Given the description of an element on the screen output the (x, y) to click on. 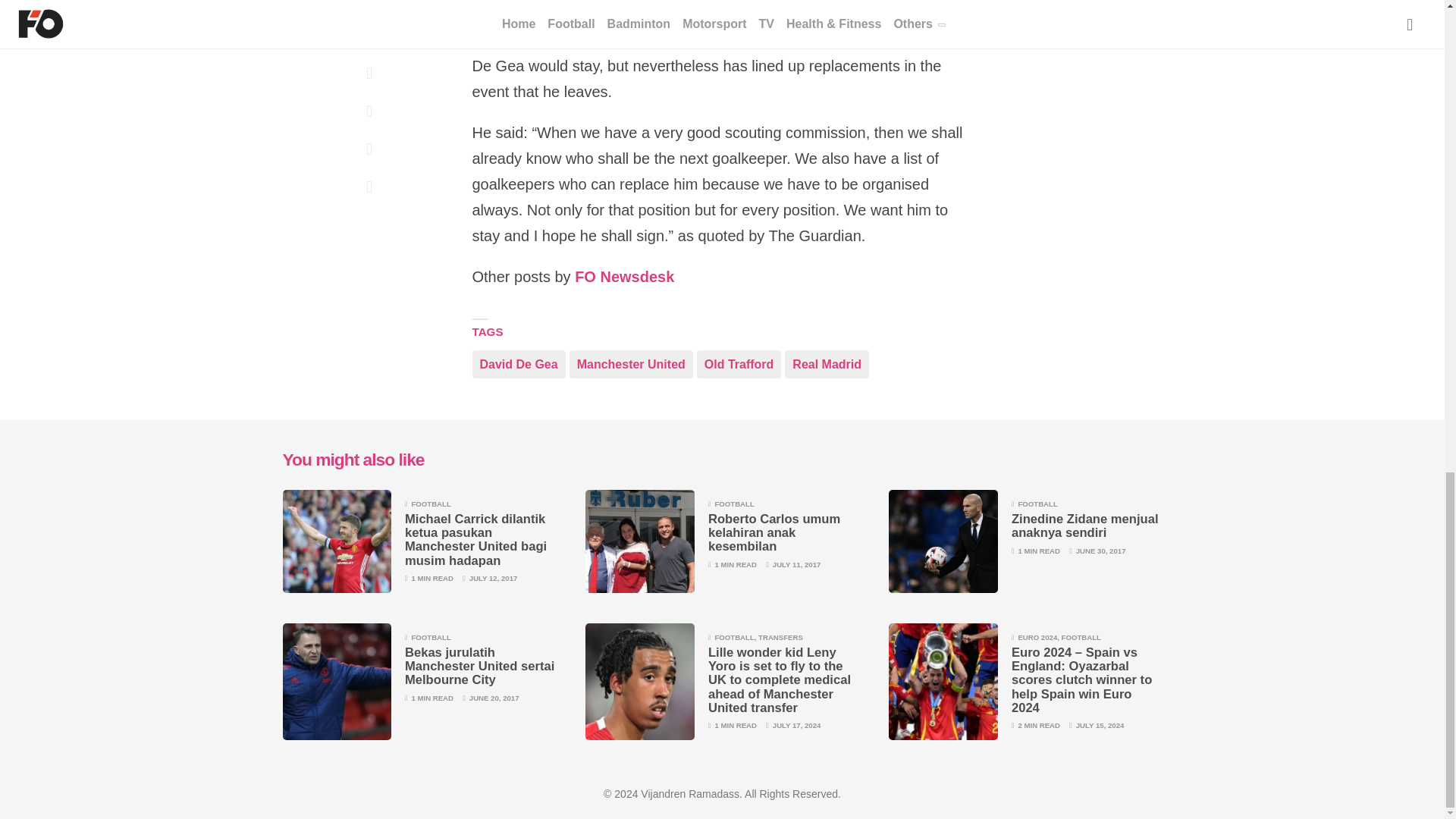
Real Madrid (826, 363)
Manchester United (631, 363)
David De Gea (517, 363)
FOOTBALL (429, 503)
FO Newsdesk (624, 277)
Old Trafford (739, 363)
Posts by FO Newsdesk (624, 277)
